Given the description of an element on the screen output the (x, y) to click on. 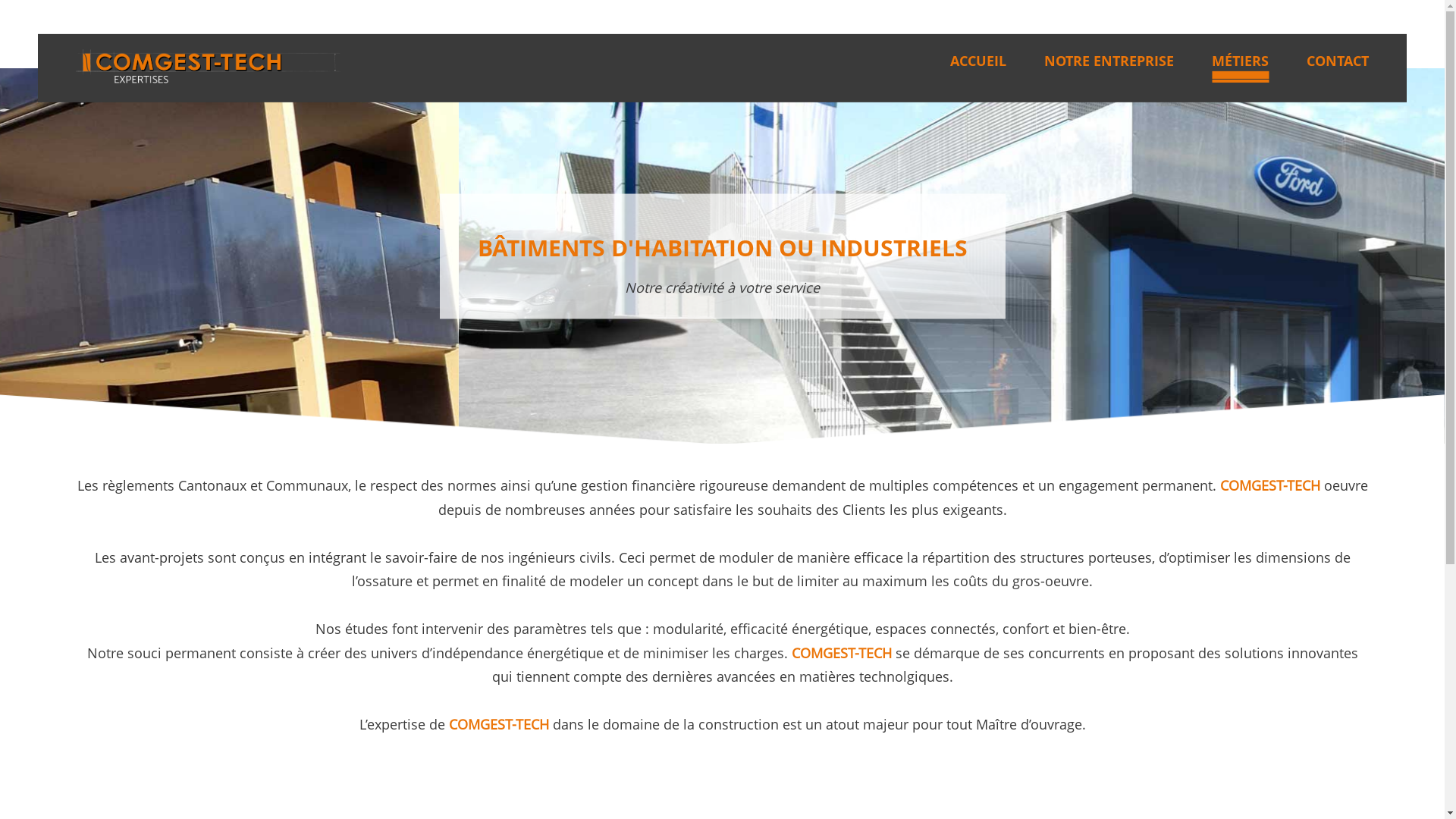
NOTRE ENTREPRISE Element type: text (1108, 60)
ACCUEIL Element type: text (978, 60)
CONTACT Element type: text (1337, 60)
